Given the description of an element on the screen output the (x, y) to click on. 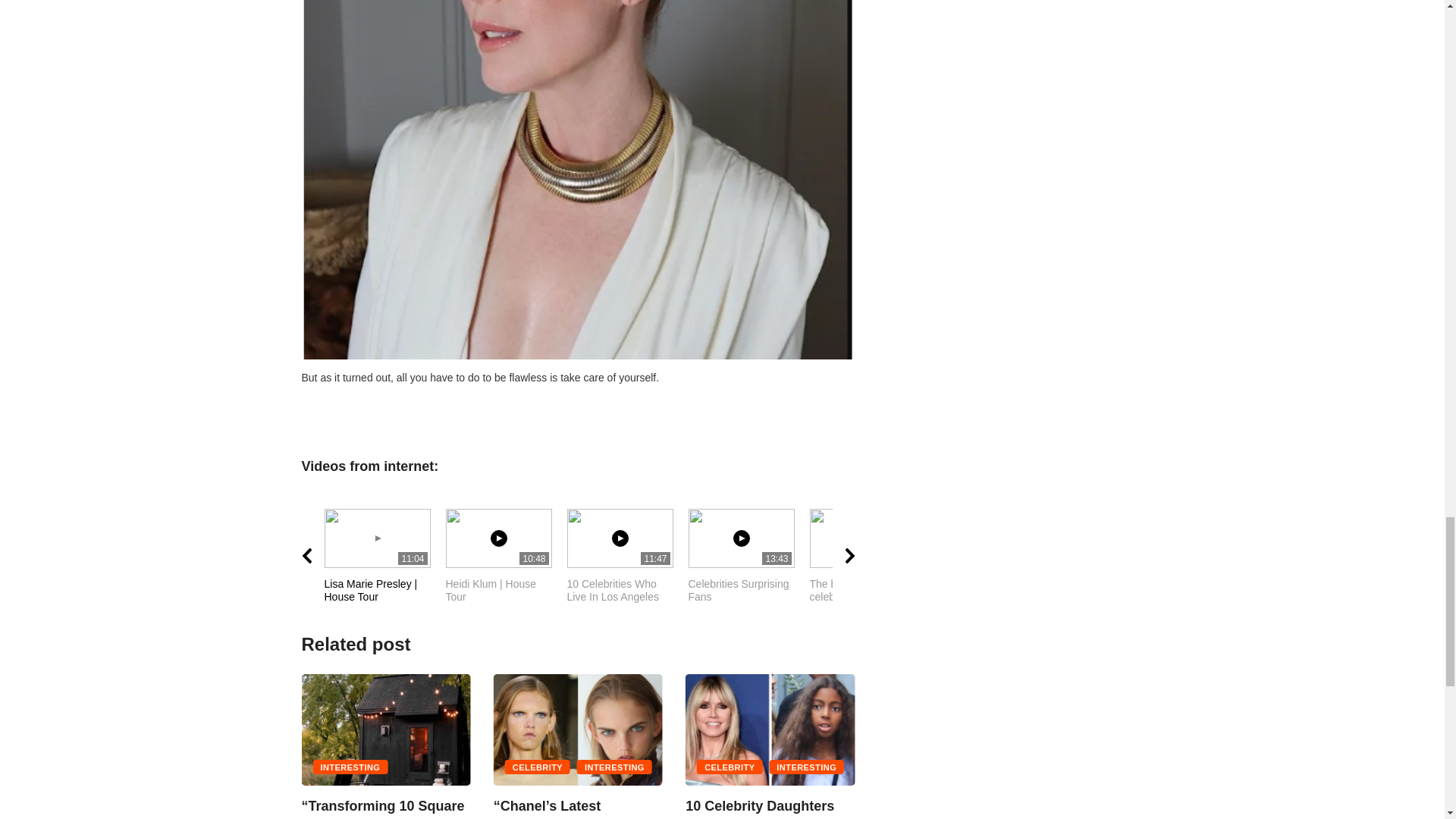
The best photos of celebrities (627, 556)
